Given the description of an element on the screen output the (x, y) to click on. 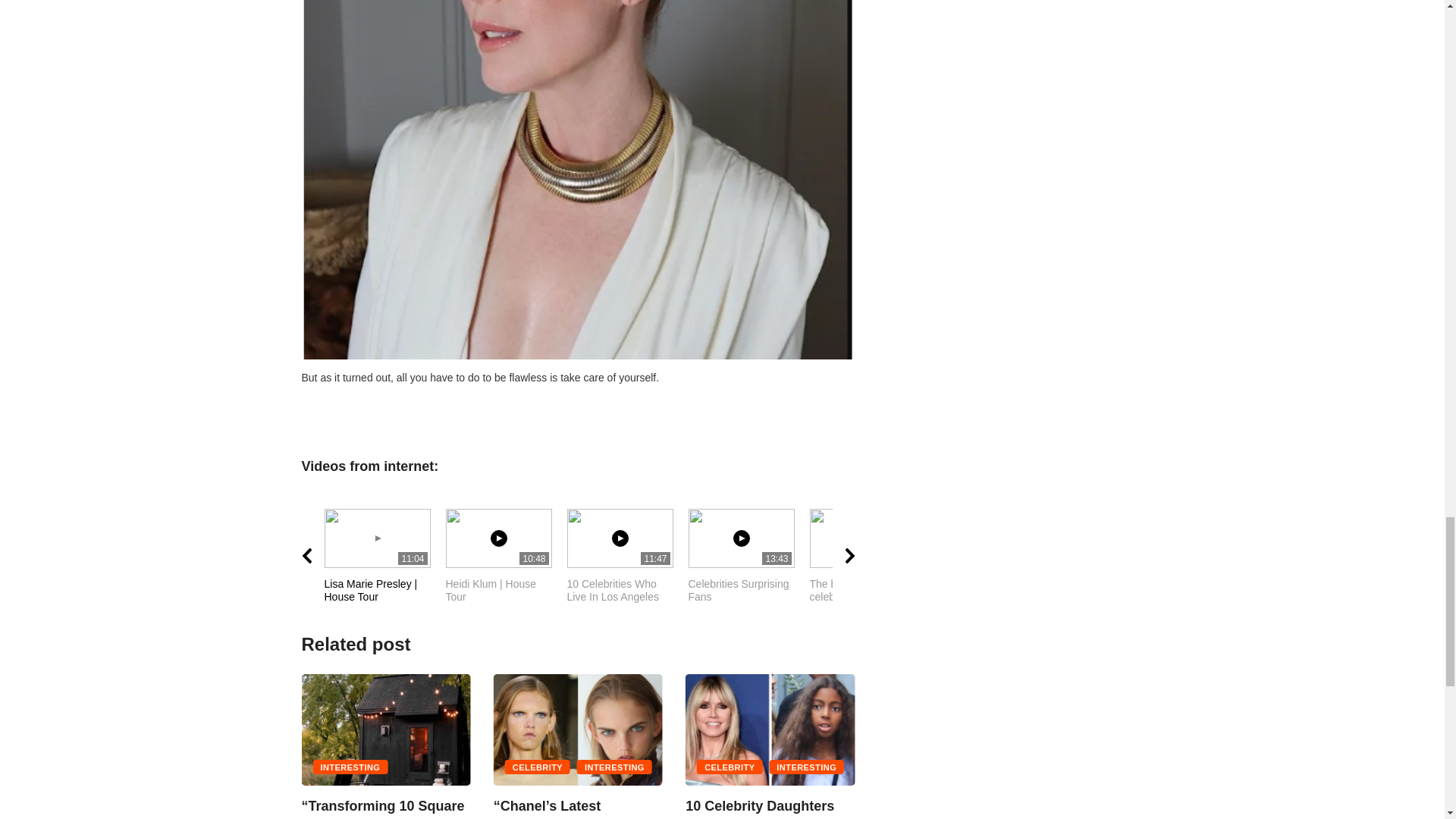
The best photos of celebrities (627, 556)
